Given the description of an element on the screen output the (x, y) to click on. 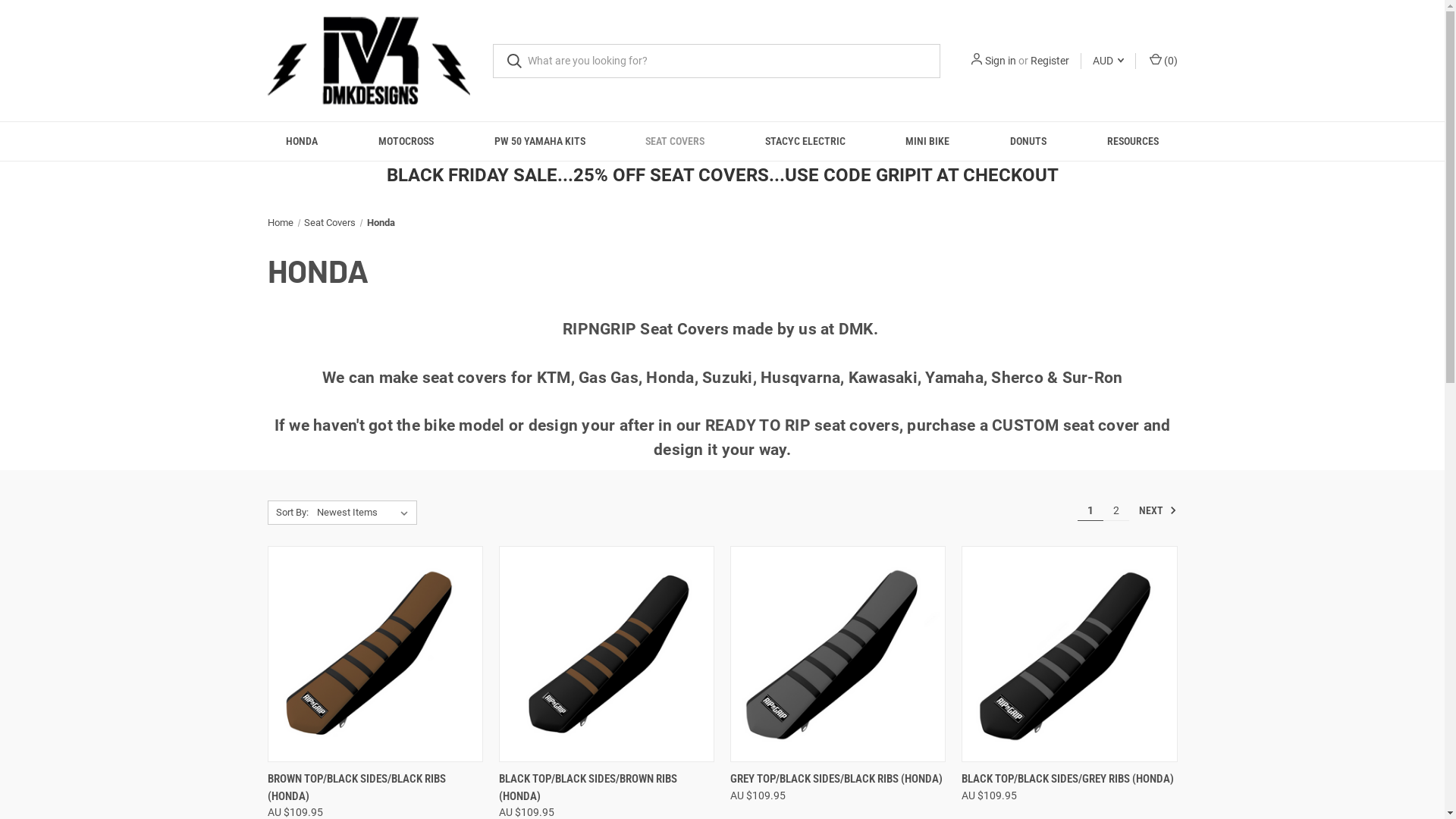
DMK Designs | Performance & Style Element type: hover (367, 59)
DONUTS Element type: text (1027, 141)
(0) Element type: text (1161, 61)
SEAT COVERS Element type: text (674, 141)
BROWN TOP/BLACK SIDES/BLACK RIBS (HONDA) Element type: text (374, 787)
BLACK TOP/BLACK SIDES/BROWN RIBS (HONDA) Element type: hover (606, 653)
VIEW OPTIONS Element type: text (837, 772)
NEXT Element type: text (1154, 510)
BLACK TOP/BLACK SIDES/BROWN RIBS (HONDA) Element type: text (606, 787)
HONDA Element type: text (302, 141)
2 Element type: text (1116, 510)
Home Element type: text (279, 222)
VIEW OPTIONS Element type: text (606, 772)
AUD Element type: text (1108, 61)
GREY TOP/BLACK SIDES/BLACK RIBS (HONDA) Element type: text (836, 778)
Register Element type: text (1048, 61)
Seat Covers Element type: text (329, 222)
STACYC ELECTRIC Element type: text (804, 141)
1 Element type: text (1090, 510)
VIEW OPTIONS Element type: text (1069, 772)
GREY TOP/BLACK SIDES/BLACK RIBS (HONDA) Element type: hover (837, 653)
BLACK TOP/BLACK SIDES/GREY RIBS (HONDA) Element type: text (1067, 778)
RESOURCES Element type: text (1132, 141)
MINI BIKE Element type: text (927, 141)
MOTOCROSS Element type: text (406, 141)
PW 50 YAMAHA KITS Element type: text (539, 141)
Sign in Element type: text (999, 61)
Honda Element type: text (381, 222)
VIEW OPTIONS Element type: text (375, 772)
BROWN TOP/BLACK SIDES/BLACK RIBS (HONDA) Element type: hover (374, 653)
BLACK TOP/BLACK SIDES/GREY RIBS (HONDA) Element type: hover (1068, 653)
